Given the description of an element on the screen output the (x, y) to click on. 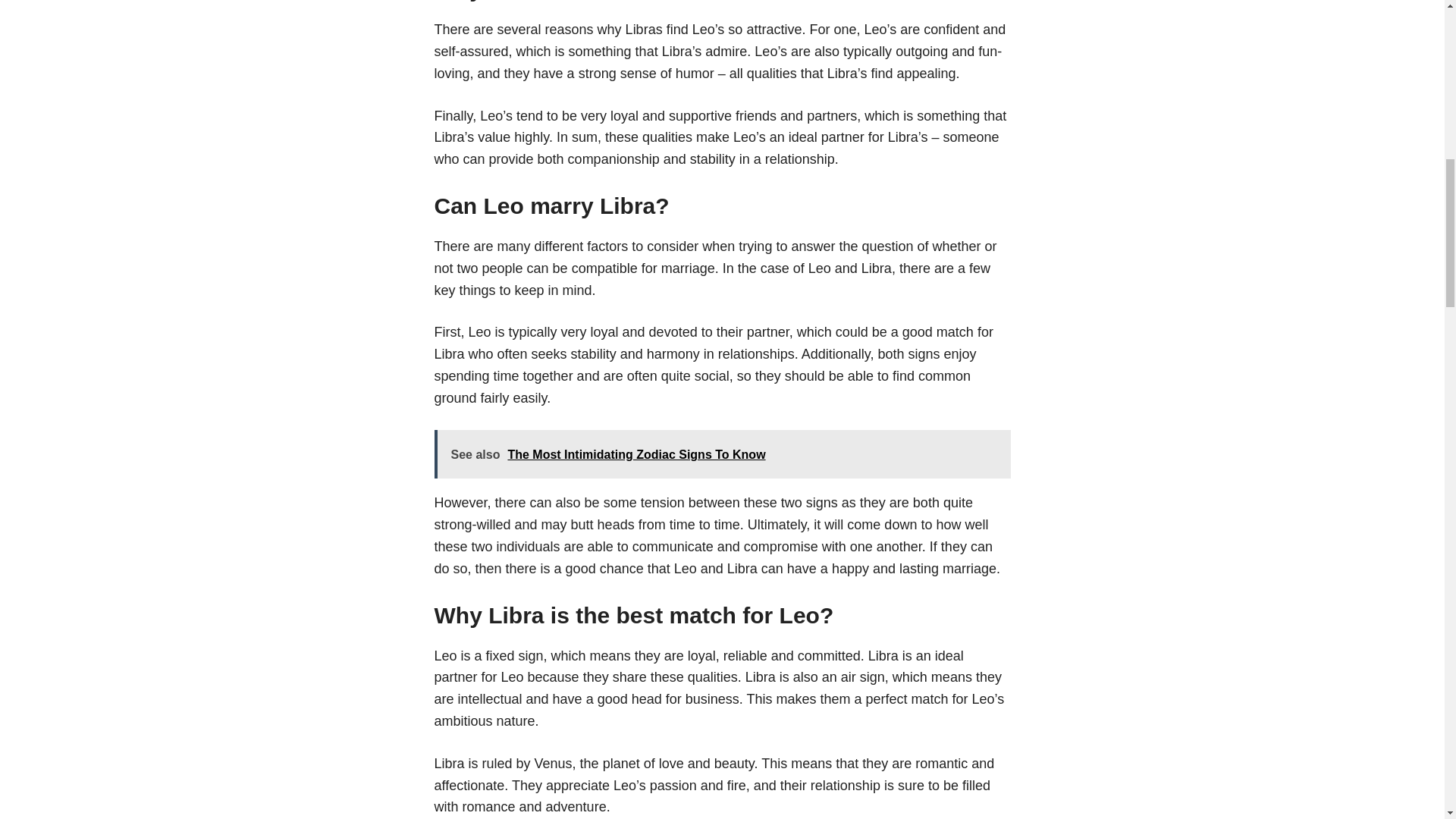
See also  The Most Intimidating Zodiac Signs To Know (721, 454)
